Given the description of an element on the screen output the (x, y) to click on. 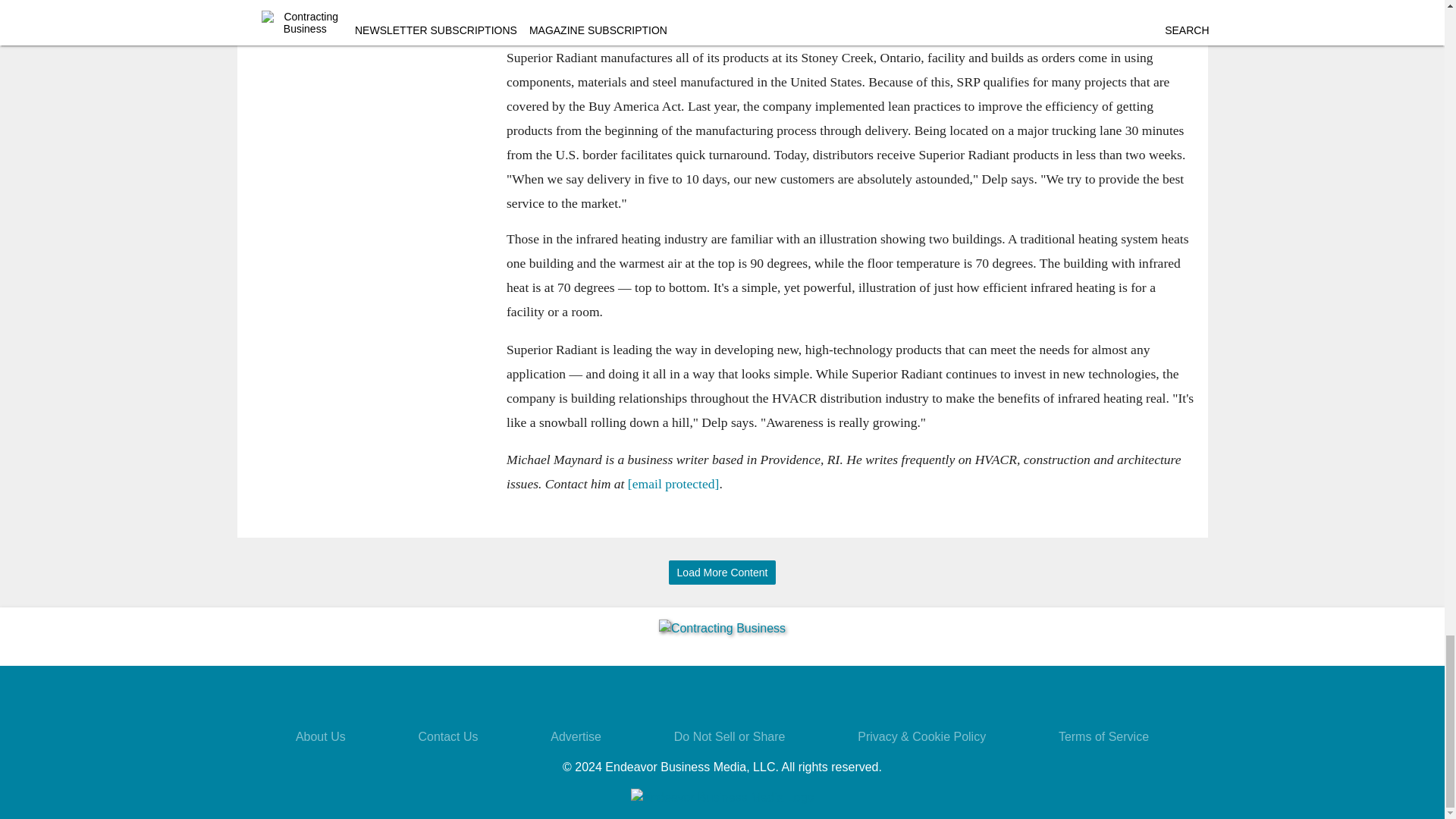
Load More Content (722, 572)
Advertise (575, 736)
Terms of Service (1103, 736)
Contact Us (447, 736)
Do Not Sell or Share (730, 736)
About Us (320, 736)
